Given the description of an element on the screen output the (x, y) to click on. 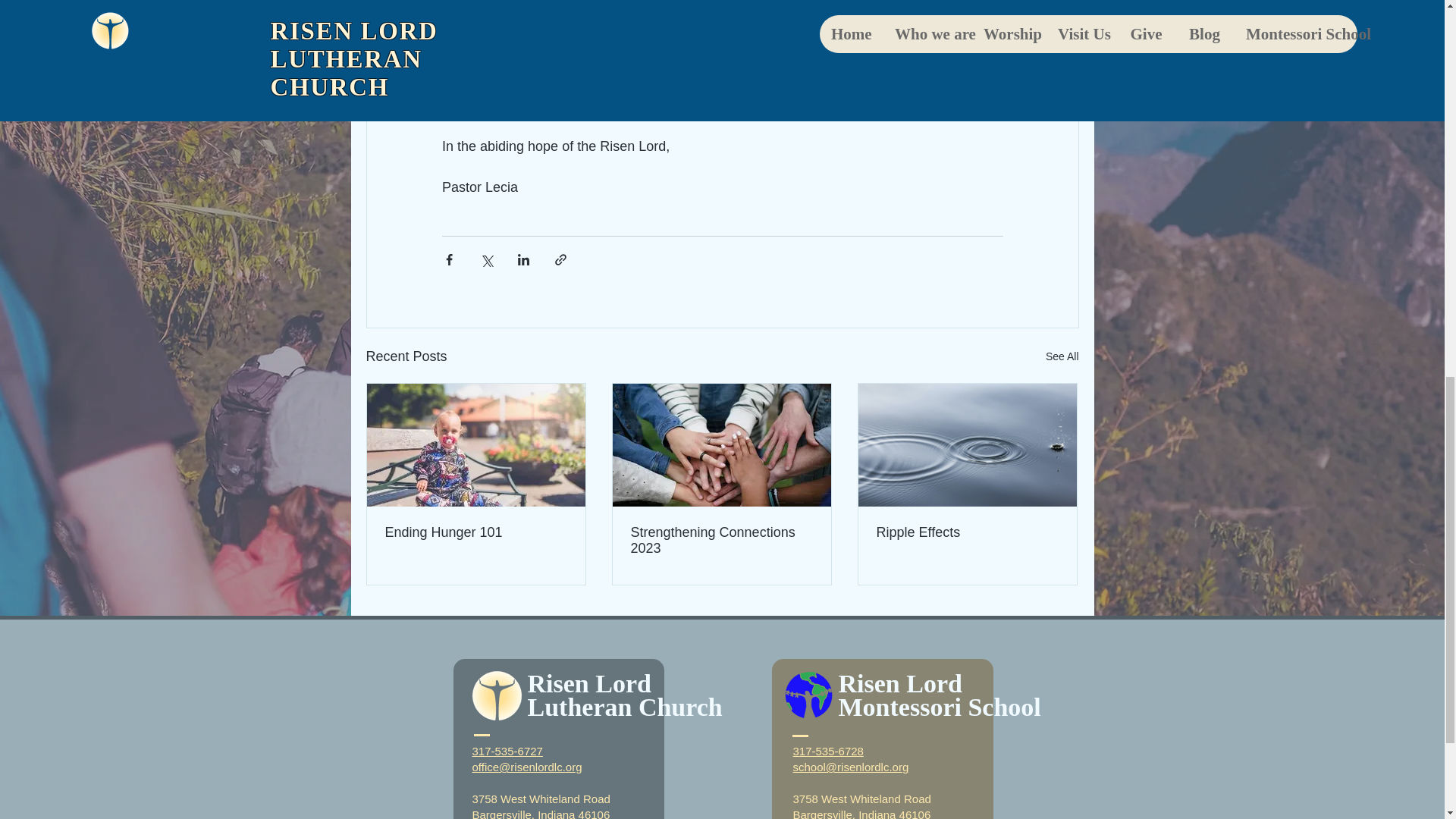
Strengthening Connections 2023 (721, 540)
See All (1061, 356)
317-535-6727 (506, 750)
Ending Hunger 101 (476, 532)
Ripple Effects (967, 532)
317-535-6728 (828, 750)
